Given the description of an element on the screen output the (x, y) to click on. 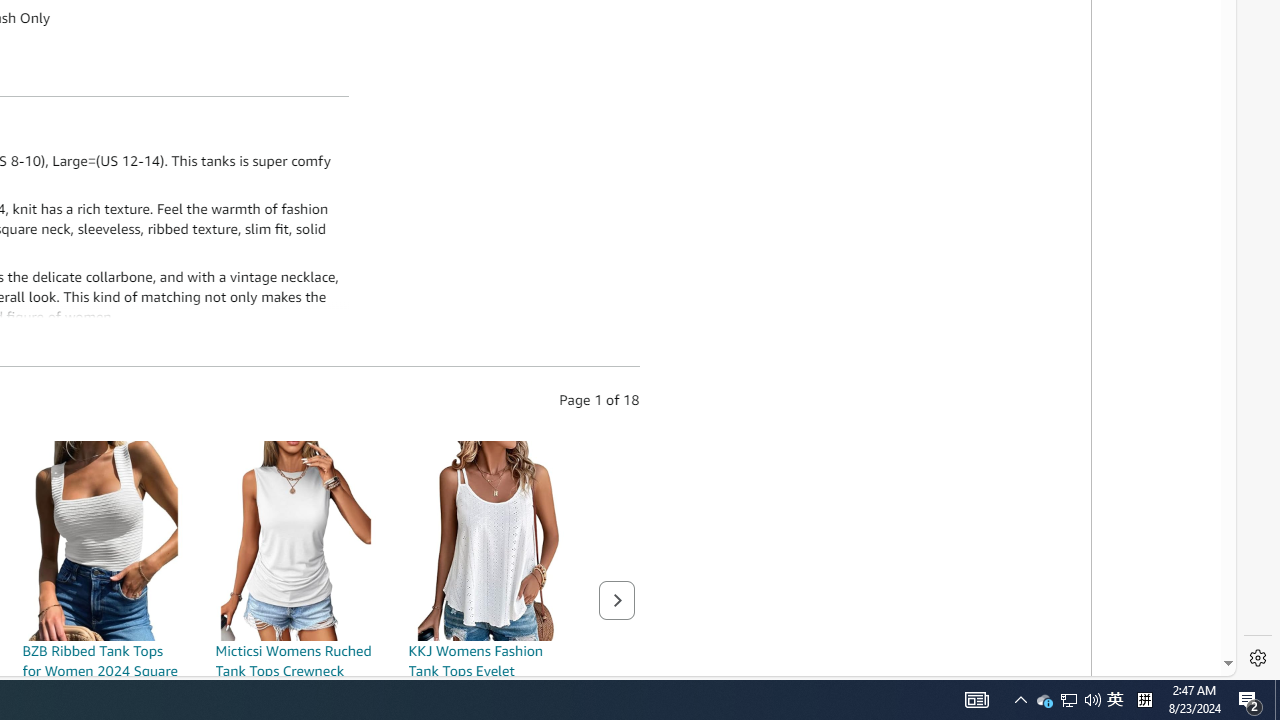
Next page of related Sponsored Products (615, 600)
